Given the description of an element on the screen output the (x, y) to click on. 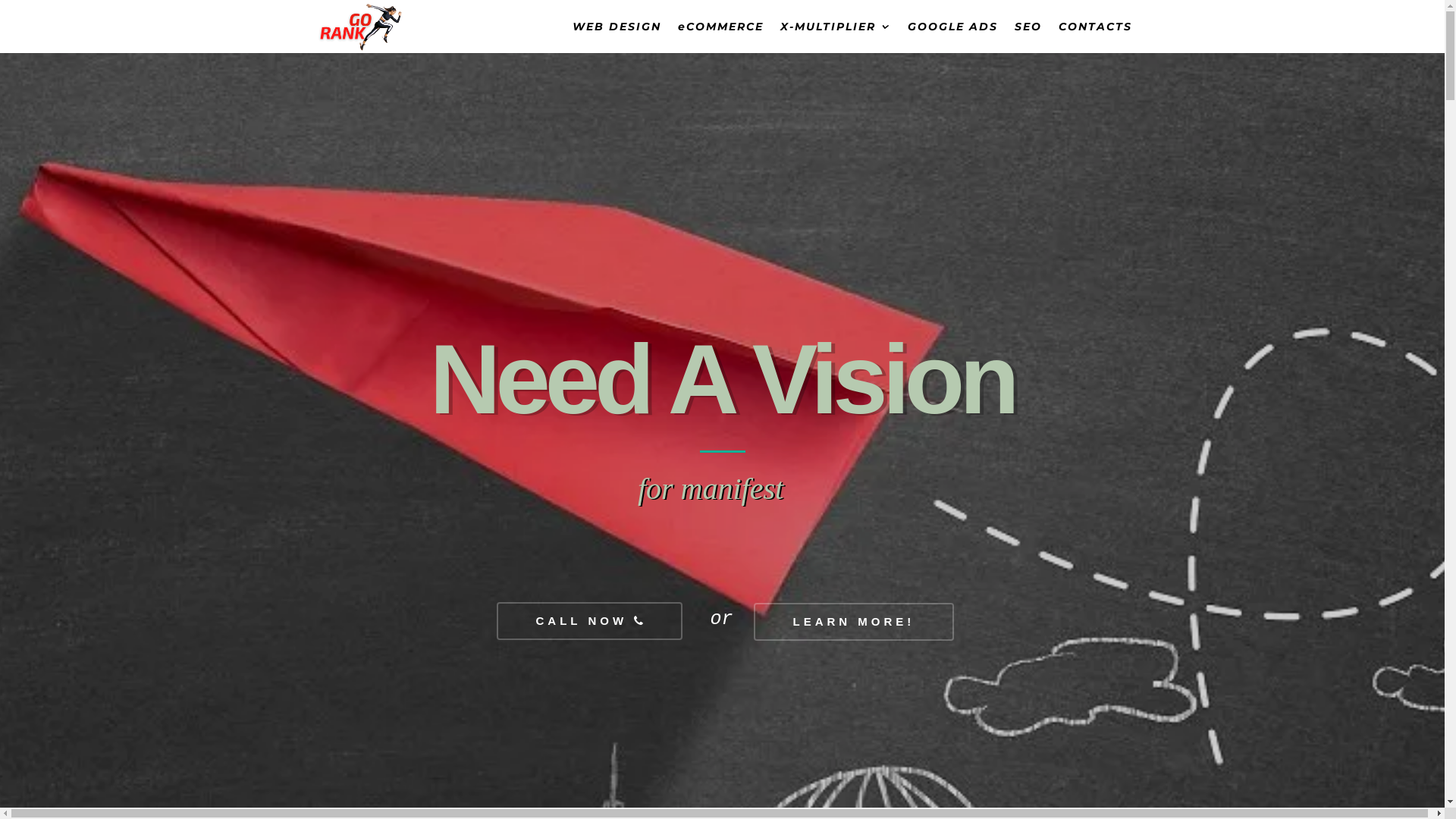
eCOMMERCE Element type: text (720, 37)
GOOGLE ADS Element type: text (951, 37)
SEO Element type: text (1027, 37)
CONTACTS Element type: text (1095, 37)
X-MULTIPLIER Element type: text (834, 37)
CALL NOW Element type: text (588, 621)
WEB DESIGN Element type: text (615, 37)
